Given the description of an element on the screen output the (x, y) to click on. 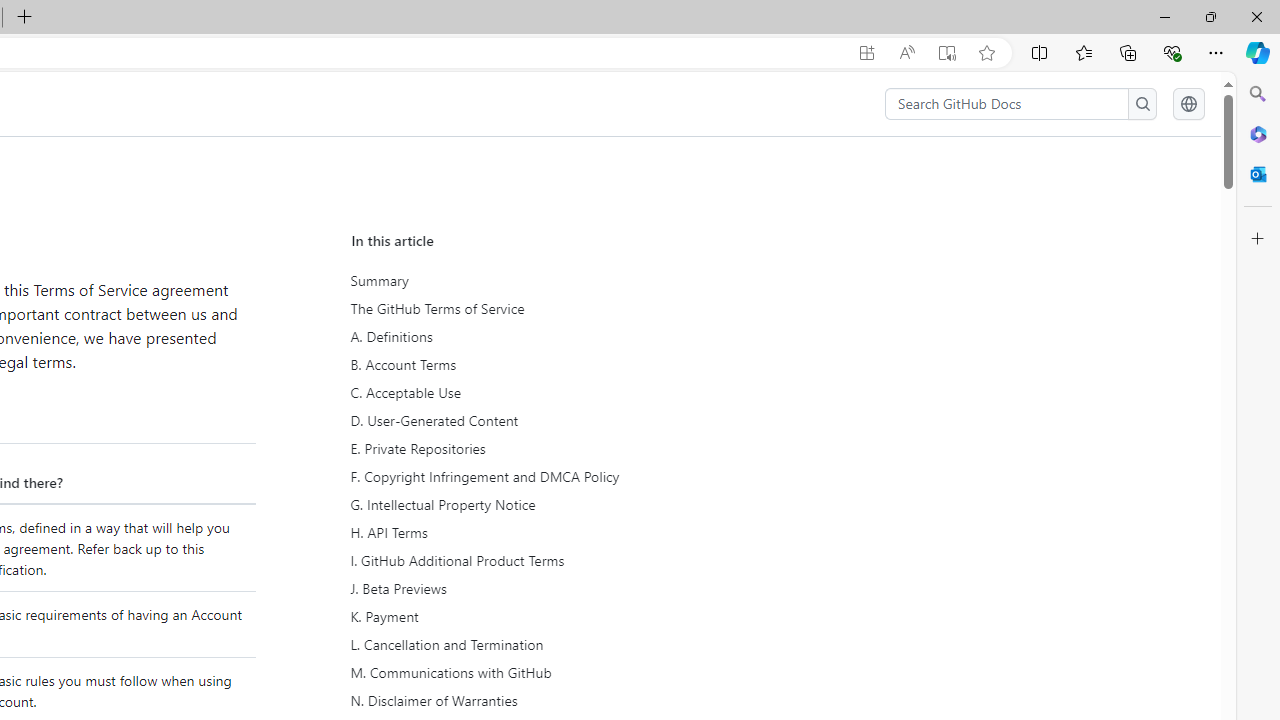
D. User-Generated Content (535, 420)
I. GitHub Additional Product Terms (535, 561)
L. Cancellation and Termination (535, 644)
The GitHub Terms of Service (538, 309)
F. Copyright Infringement and DMCA Policy (538, 476)
C. Acceptable Use (538, 392)
G. Intellectual Property Notice (538, 505)
Summary (535, 281)
The GitHub Terms of Service (535, 309)
J. Beta Previews (538, 589)
